Given the description of an element on the screen output the (x, y) to click on. 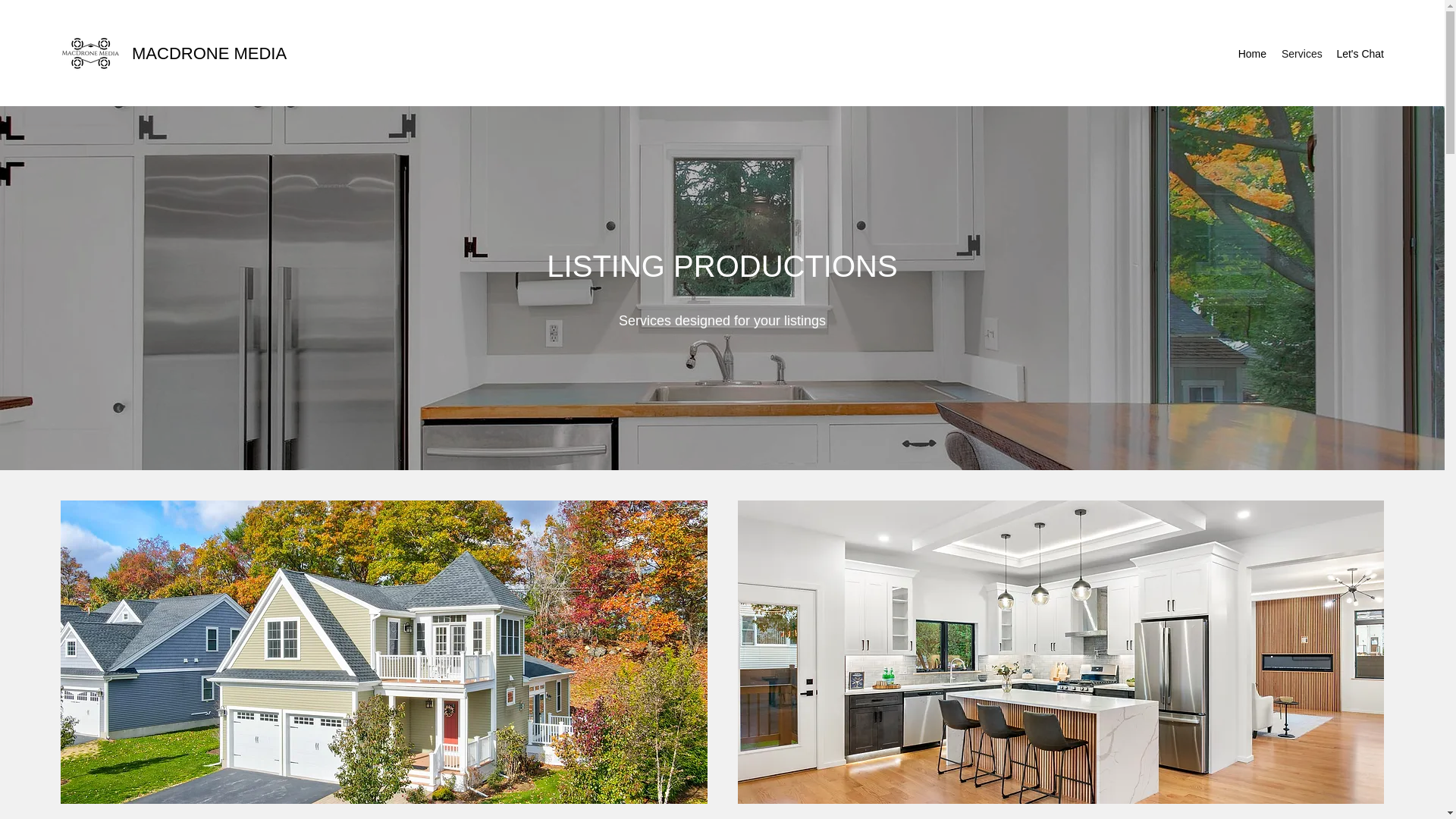
MACDRONE MEDIA (209, 53)
Home (1252, 53)
Services (1300, 53)
Let's Chat (1359, 53)
